Given the description of an element on the screen output the (x, y) to click on. 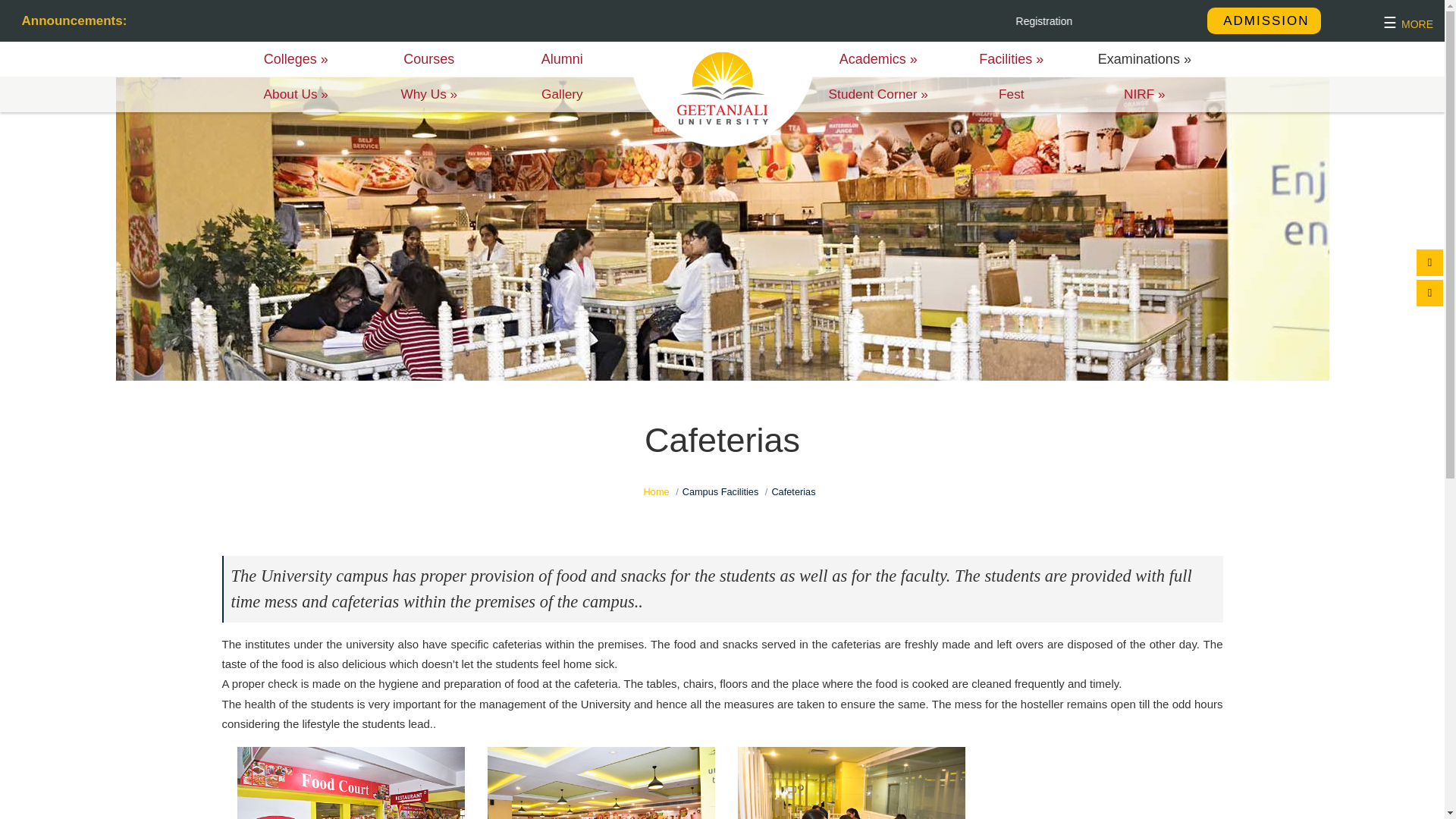
Course Search (1429, 293)
Alumni (562, 58)
Courses (429, 58)
ADMISSION (1263, 20)
Announcements: (63, 20)
Registration Form for 2nd Convocation 2024 (1188, 21)
Call Now (1429, 262)
